Given the description of an element on the screen output the (x, y) to click on. 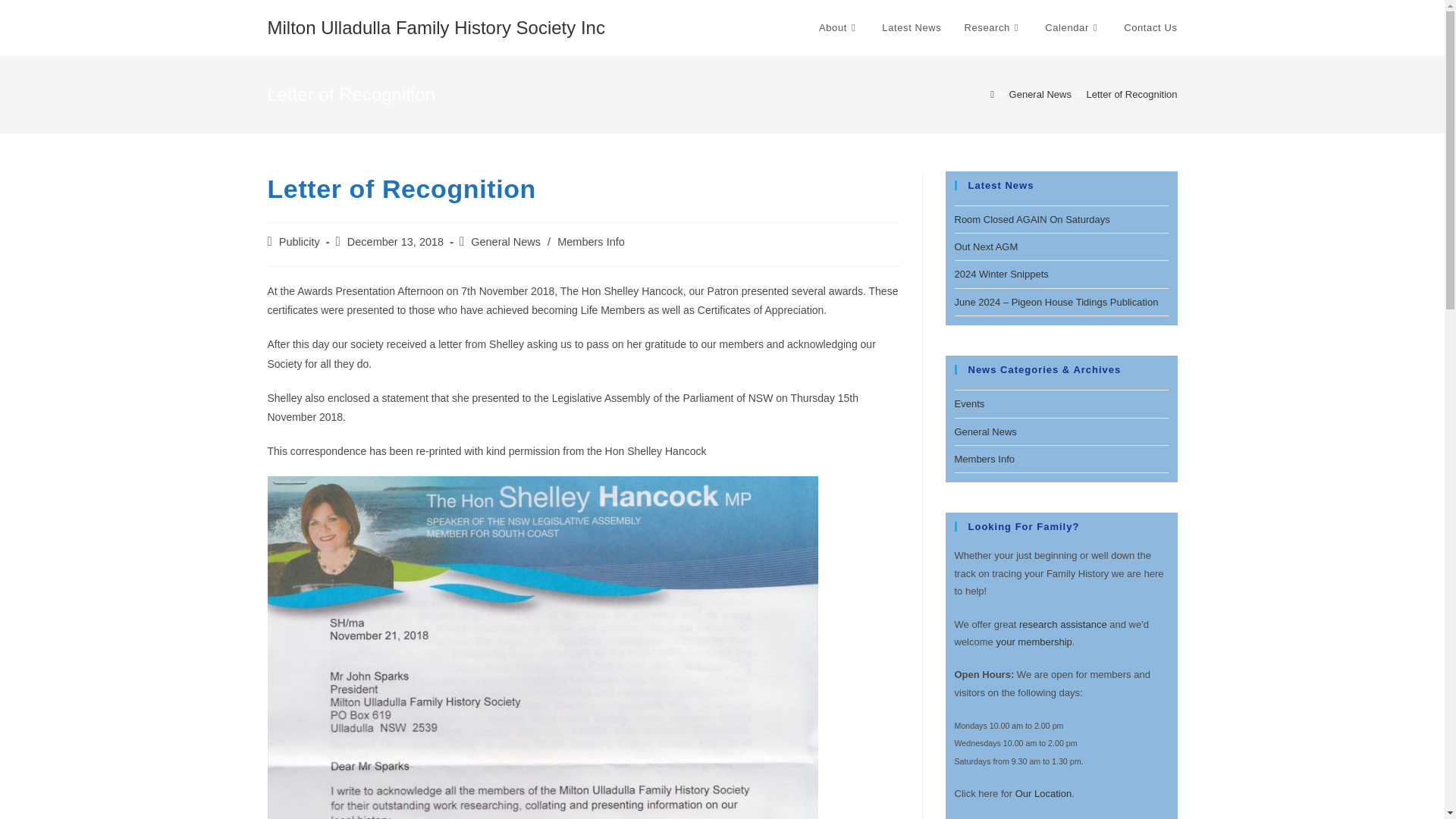
Contact Us (1150, 28)
Calendar (1072, 28)
Research (992, 28)
Milton Ulladulla Family History Society Inc (435, 27)
Posts by Publicity (299, 241)
Latest News (911, 28)
About (839, 28)
